Given the description of an element on the screen output the (x, y) to click on. 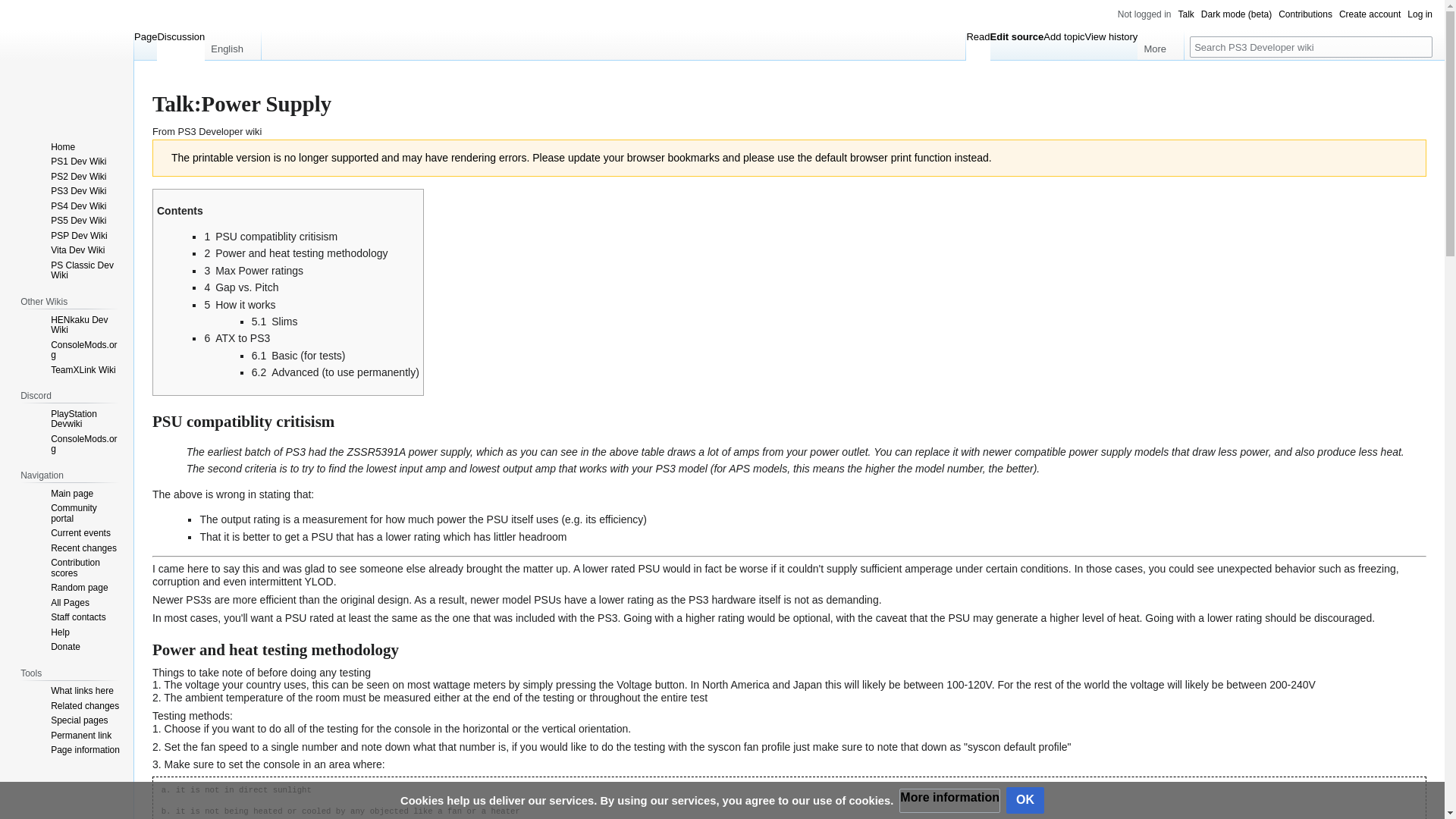
3 Max Power ratings (252, 270)
1 PSU compatiblity critisism (270, 236)
5.1 Slims (274, 321)
More information (949, 800)
5 How it works (239, 304)
Search (1420, 46)
Go (1420, 46)
4 Gap vs. Pitch (240, 287)
OK (1024, 800)
Search (1420, 46)
Talk (1185, 14)
Go (1420, 46)
6 ATX to PS3 (236, 337)
2 Power and heat testing methodology (295, 253)
